Given the description of an element on the screen output the (x, y) to click on. 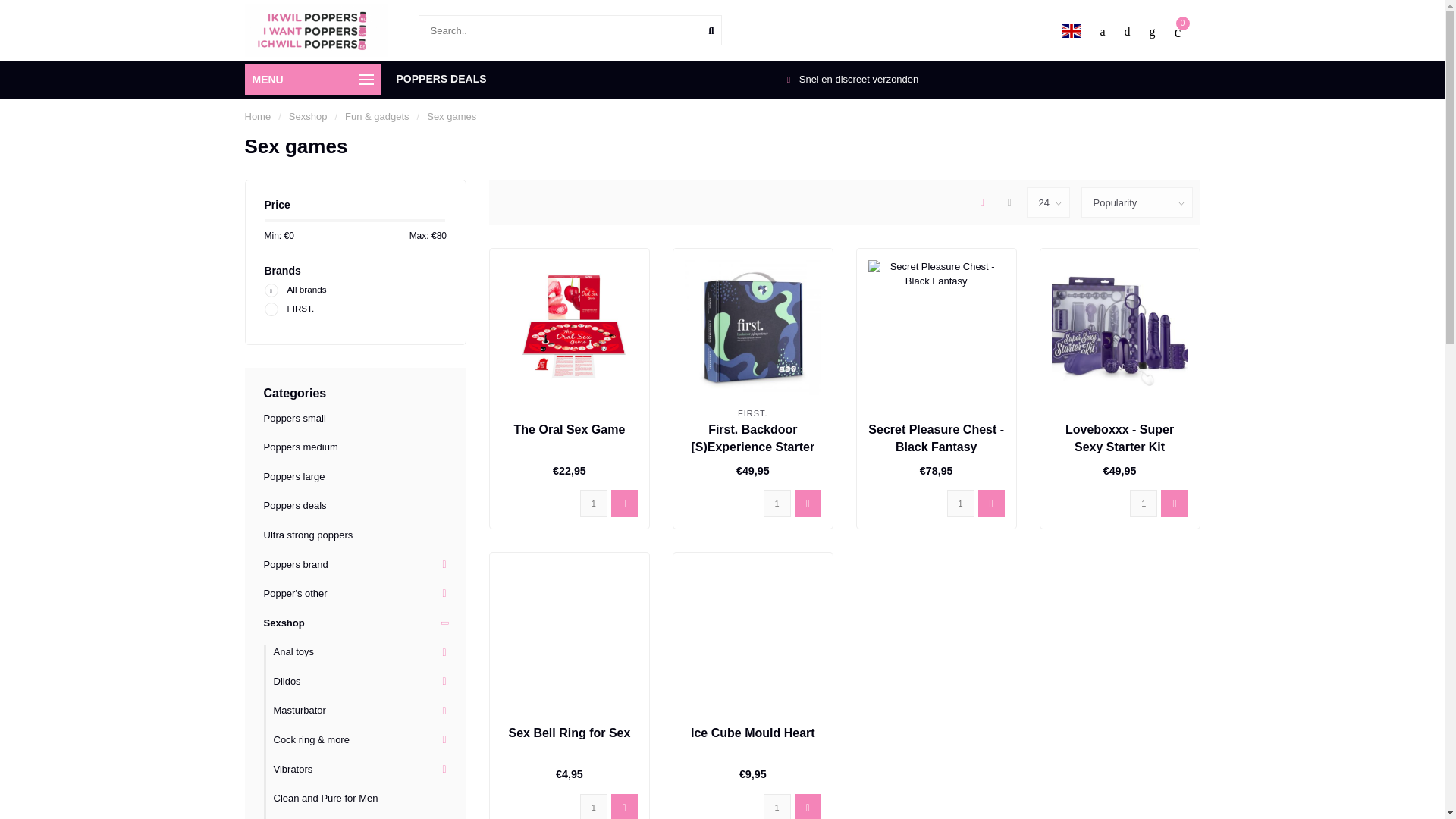
Loveboxxx - Super Sexy Starter Kit (1119, 328)
1 (776, 806)
1 (593, 502)
Loveboxxx - Super Sexy Starter Kit (1119, 438)
1 (776, 502)
The Oral Sex Game (569, 429)
Sex Bell Ring for Sex (569, 732)
1 (960, 502)
1 (593, 806)
Secret Pleasure Chest - Black Fantasy (935, 328)
